Given the description of an element on the screen output the (x, y) to click on. 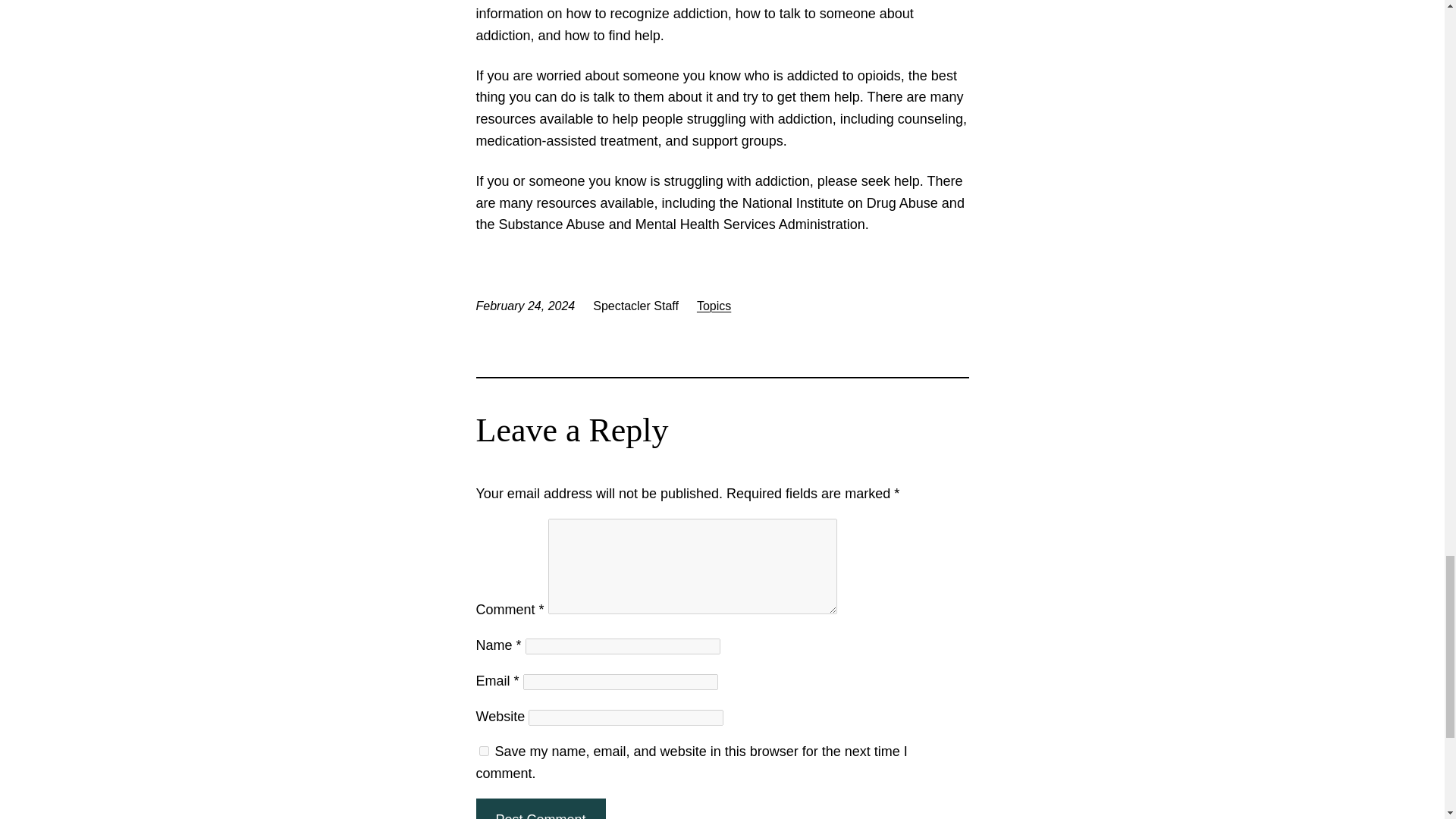
Post Comment (540, 808)
yes (484, 750)
Topics (713, 305)
Post Comment (540, 808)
